Given the description of an element on the screen output the (x, y) to click on. 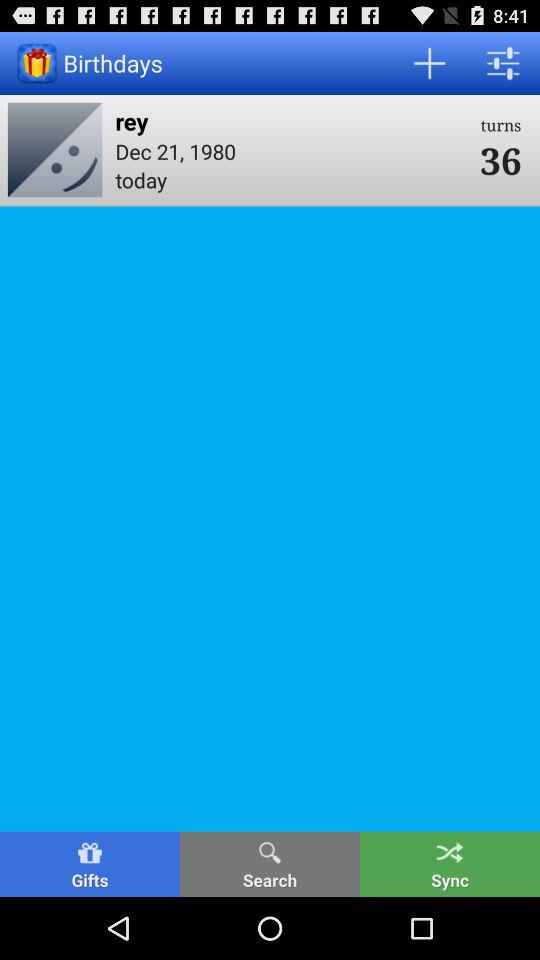
tap app next to 36 (291, 150)
